Given the description of an element on the screen output the (x, y) to click on. 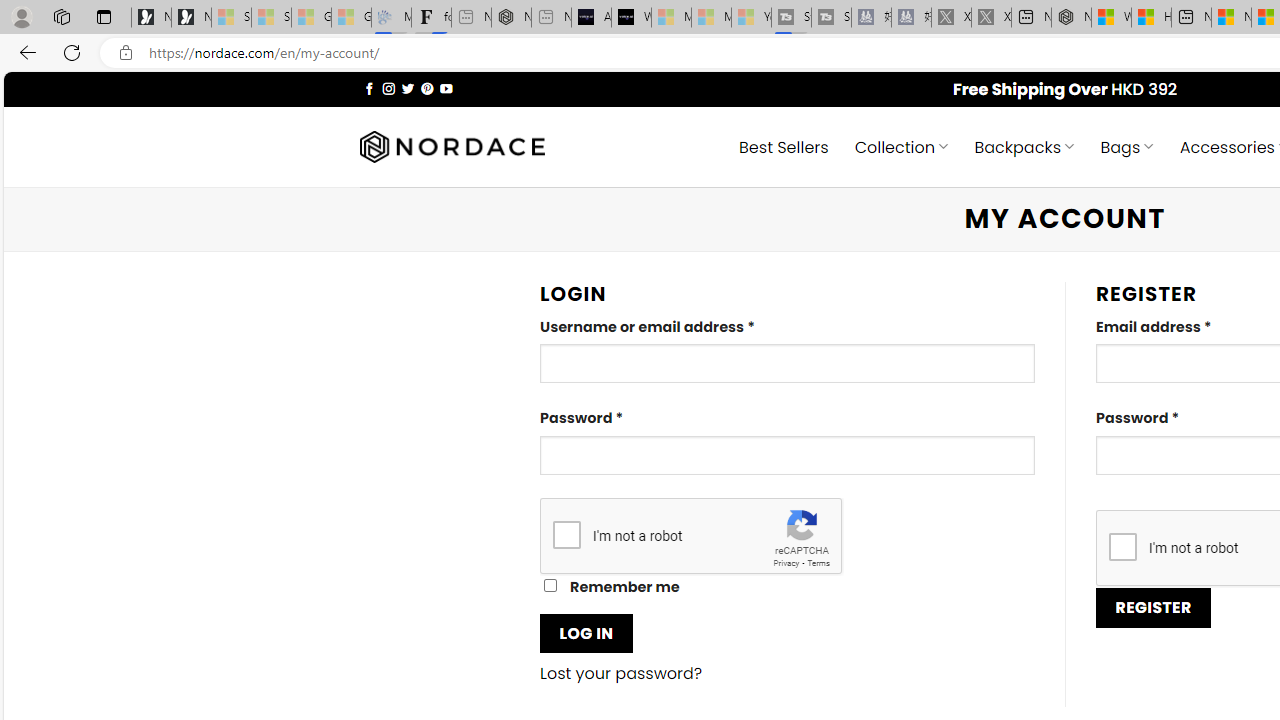
X - Sleeping (991, 17)
AI Voice Changer for PC and Mac - Voice.ai (591, 17)
Remember me (550, 585)
Terms (818, 562)
Nordace - #1 Japanese Best-Seller - Siena Smart Backpack (511, 17)
Privacy (786, 562)
Nordace - My Account (1071, 17)
